Given the description of an element on the screen output the (x, y) to click on. 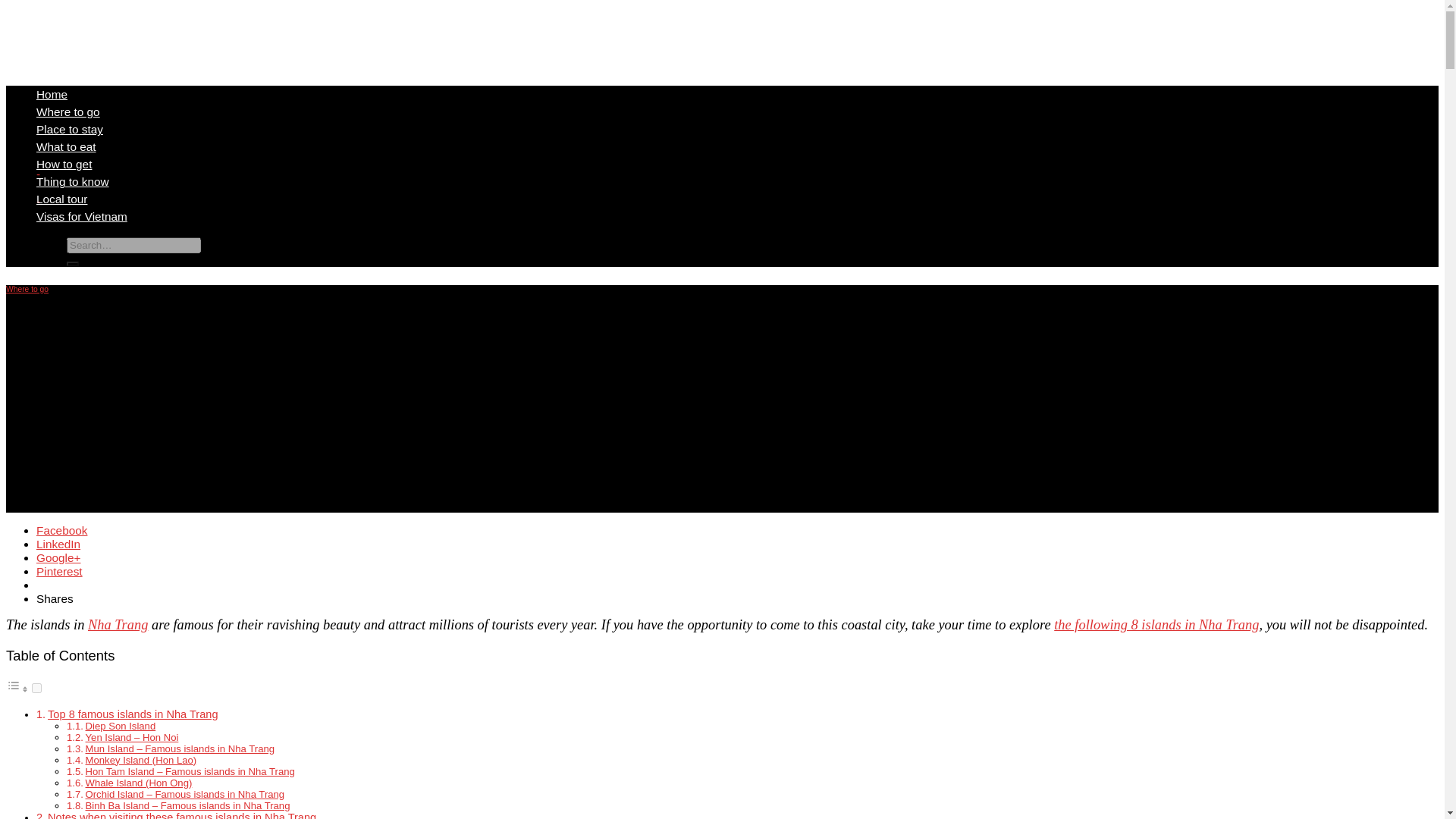
Facebook (61, 530)
Local tour (61, 198)
Place to stay (69, 128)
Visas for Vietnam (82, 215)
LinkedIn (58, 543)
Diep Son Island (120, 726)
Home (51, 93)
on (37, 687)
the following 8 islands in Nha Trang (1156, 624)
Thing to know (72, 181)
